Given the description of an element on the screen output the (x, y) to click on. 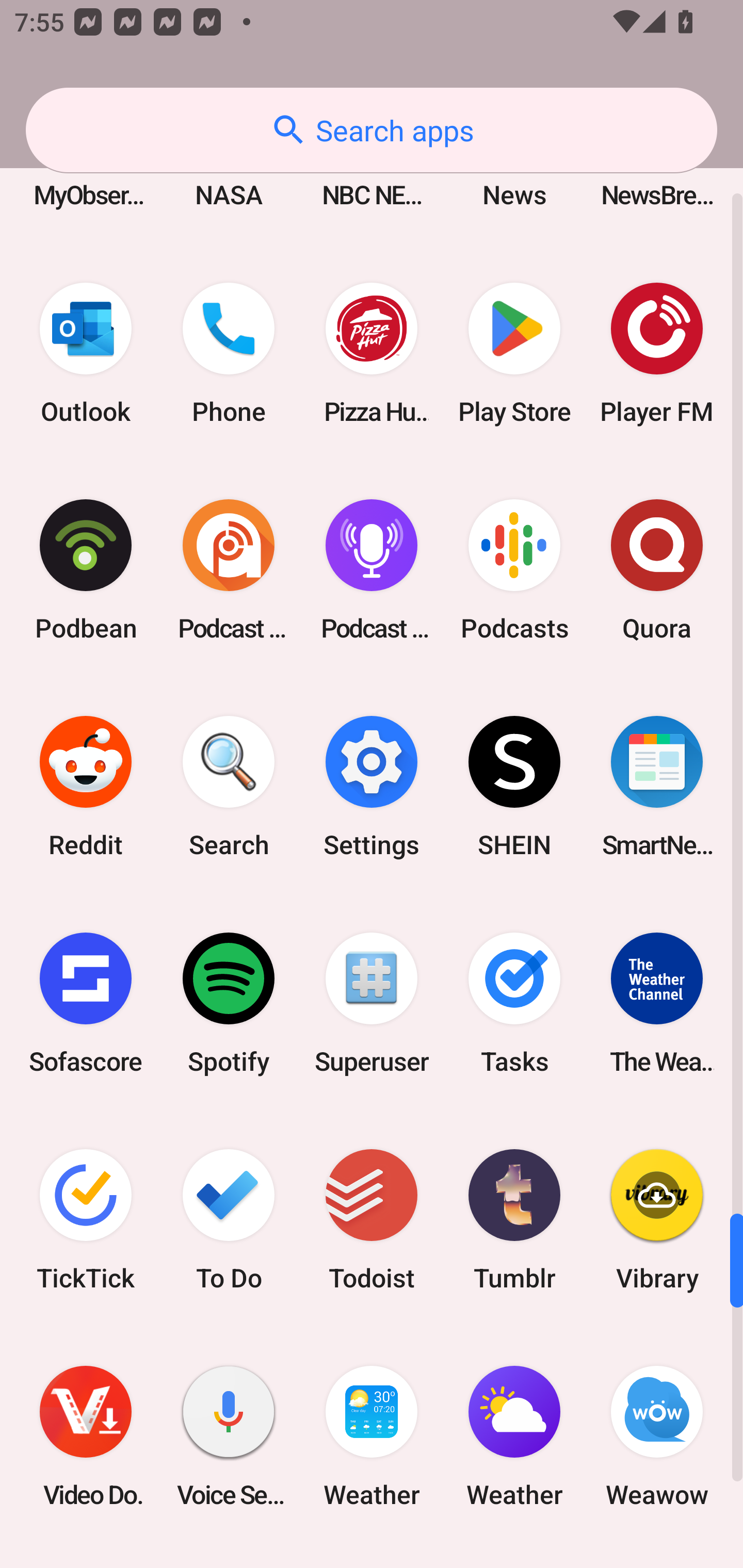
  Search apps (371, 130)
Outlook (85, 352)
Phone (228, 352)
Pizza Hut HK & Macau (371, 352)
Play Store (514, 352)
Player FM (656, 352)
Podbean (85, 569)
Podcast Addict (228, 569)
Podcast Player (371, 569)
Podcasts (514, 569)
Quora (656, 569)
Reddit (85, 786)
Search (228, 786)
Settings (371, 786)
SHEIN (514, 786)
SmartNews (656, 786)
Sofascore (85, 1003)
Spotify (228, 1003)
Superuser (371, 1003)
Tasks (514, 1003)
The Weather Channel (656, 1003)
TickTick (85, 1219)
To Do (228, 1219)
Todoist (371, 1219)
Tumblr (514, 1219)
Vibrary (656, 1219)
Video Downloader & Ace Player (85, 1436)
Voice Search (228, 1436)
Weather (371, 1436)
Weather (514, 1436)
Weawow (656, 1436)
